Given the description of an element on the screen output the (x, y) to click on. 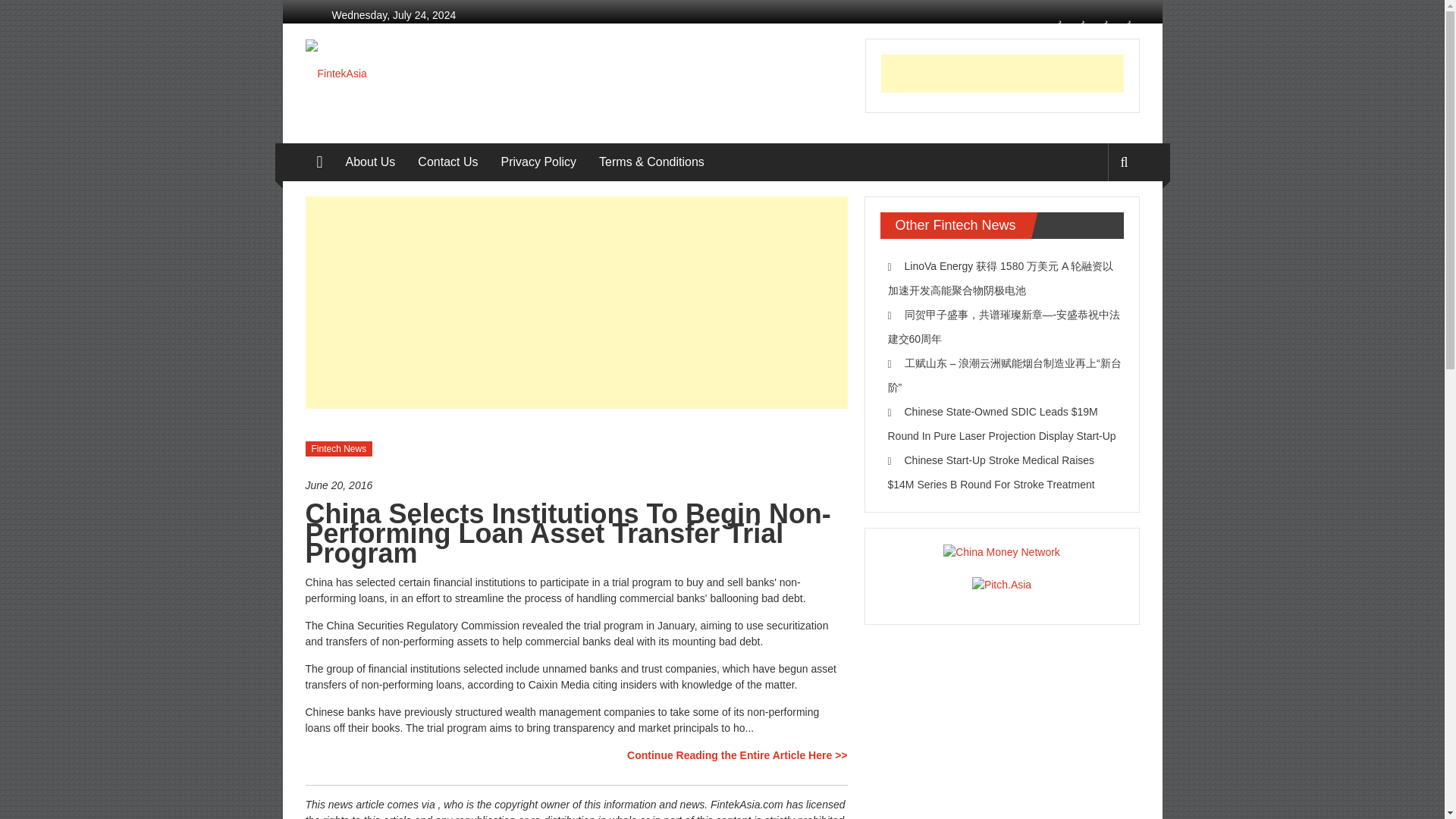
Privacy Policy (538, 161)
Contact Us (447, 161)
Advertisement (1002, 73)
About Us (371, 161)
Advertisement (575, 302)
Fintech News (338, 448)
Pitch.Asia (1001, 583)
June 20, 2016 (575, 485)
12:52 pm (575, 485)
FintekAsia (318, 161)
